Given the description of an element on the screen output the (x, y) to click on. 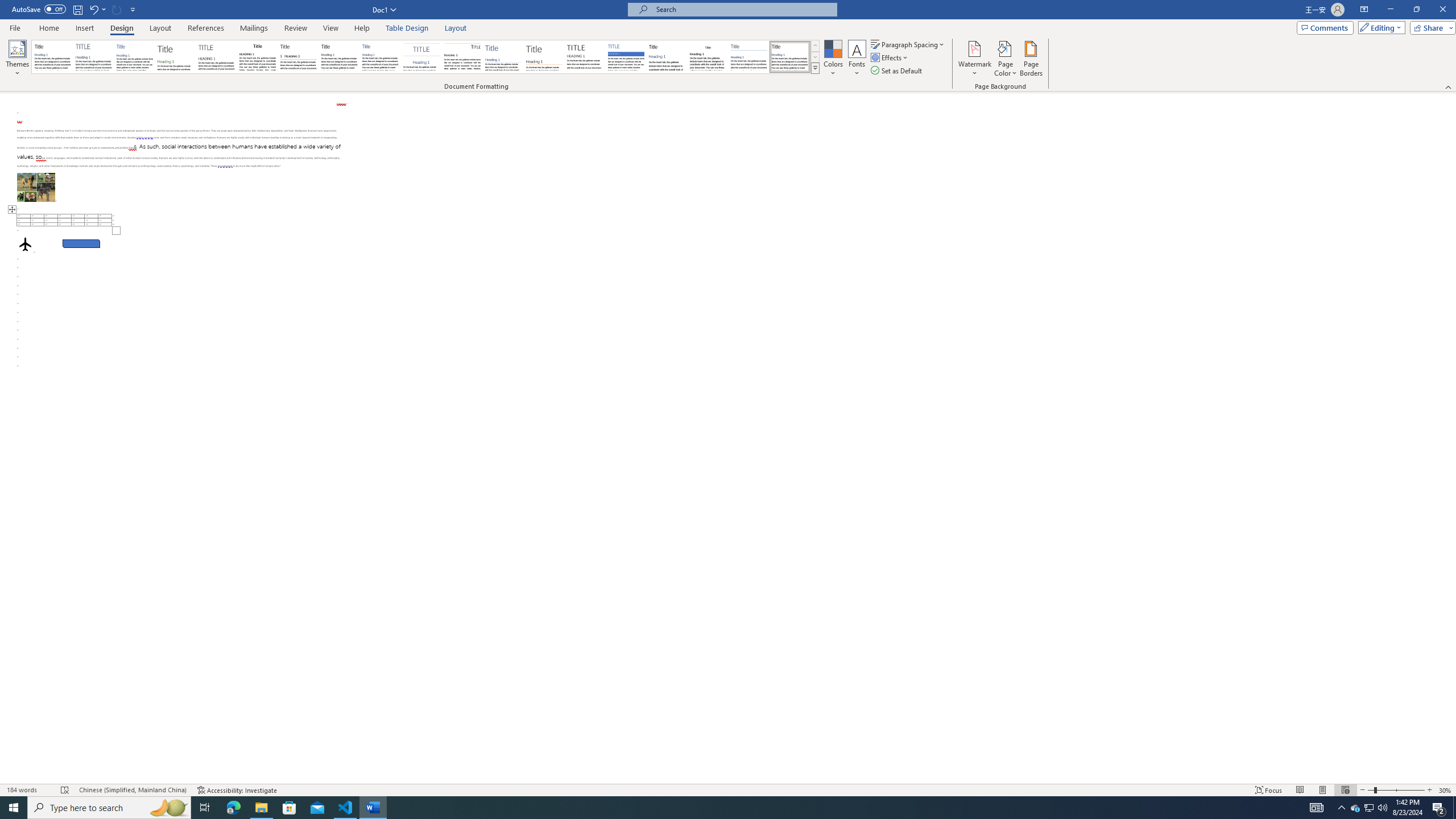
Word Count 184 words (28, 790)
Airplane with solid fill (25, 243)
